Given the description of an element on the screen output the (x, y) to click on. 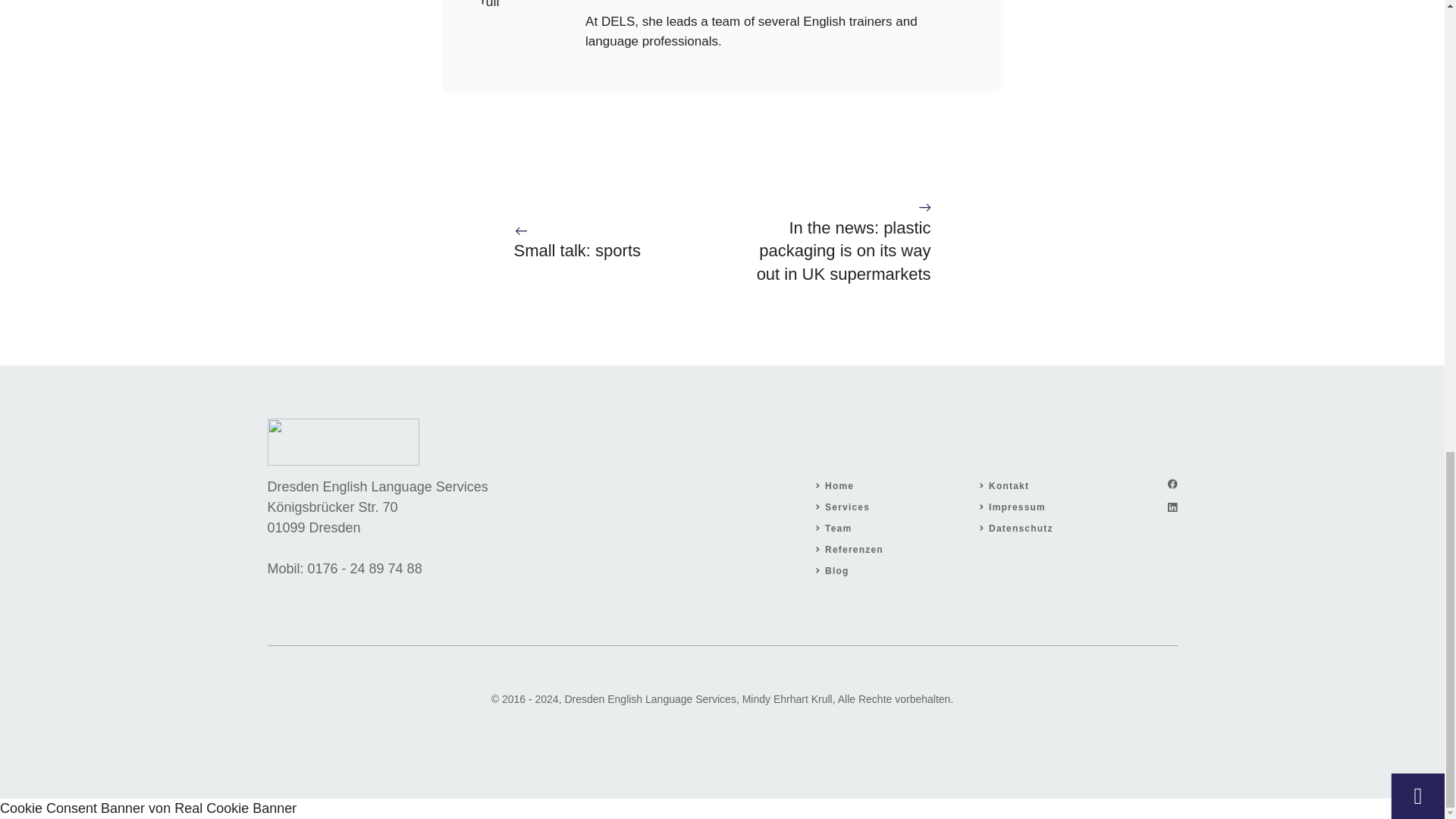
bild-mindy-ehrhart-krull (520, 6)
Datenschutz (1020, 528)
Home (839, 485)
Small talk: sports (577, 250)
Impressum (1016, 507)
Kontakt (1008, 485)
Services (847, 507)
Blog (836, 570)
cropped-dresden-english-language-services-logo.webp (342, 442)
Team (838, 528)
Referenzen (854, 549)
